Given the description of an element on the screen output the (x, y) to click on. 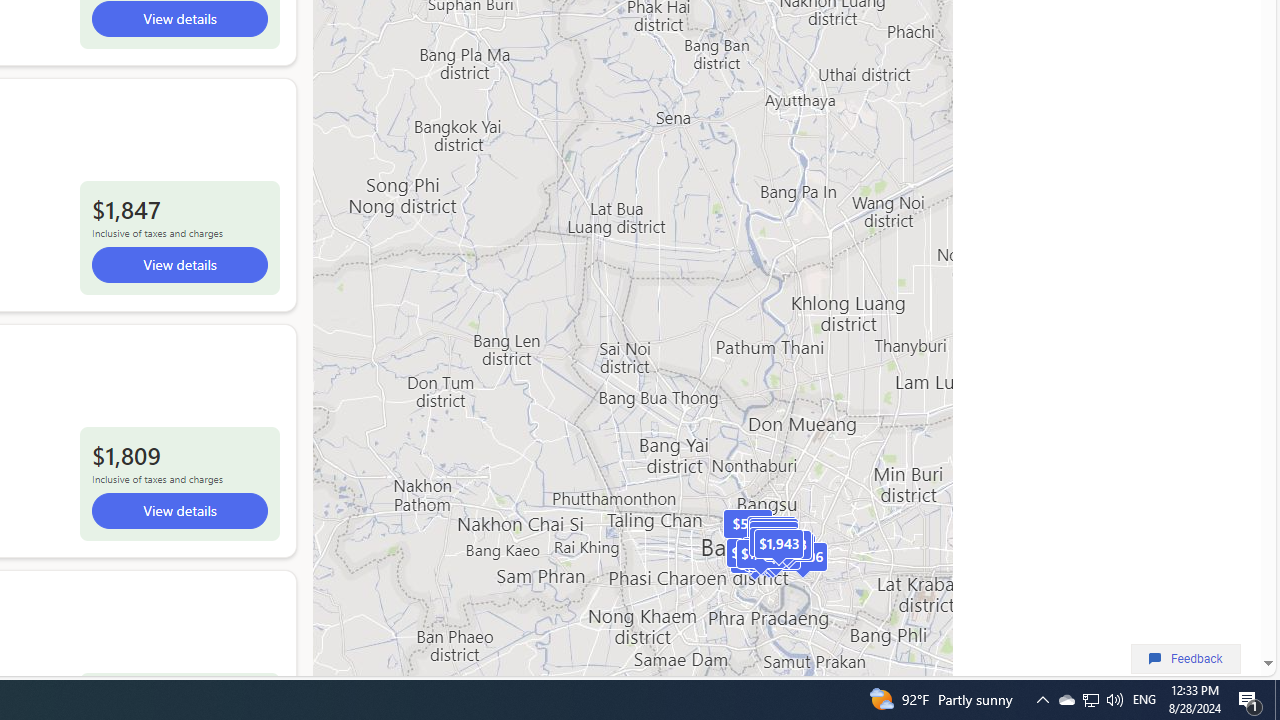
View details (178, 511)
